Given the description of an element on the screen output the (x, y) to click on. 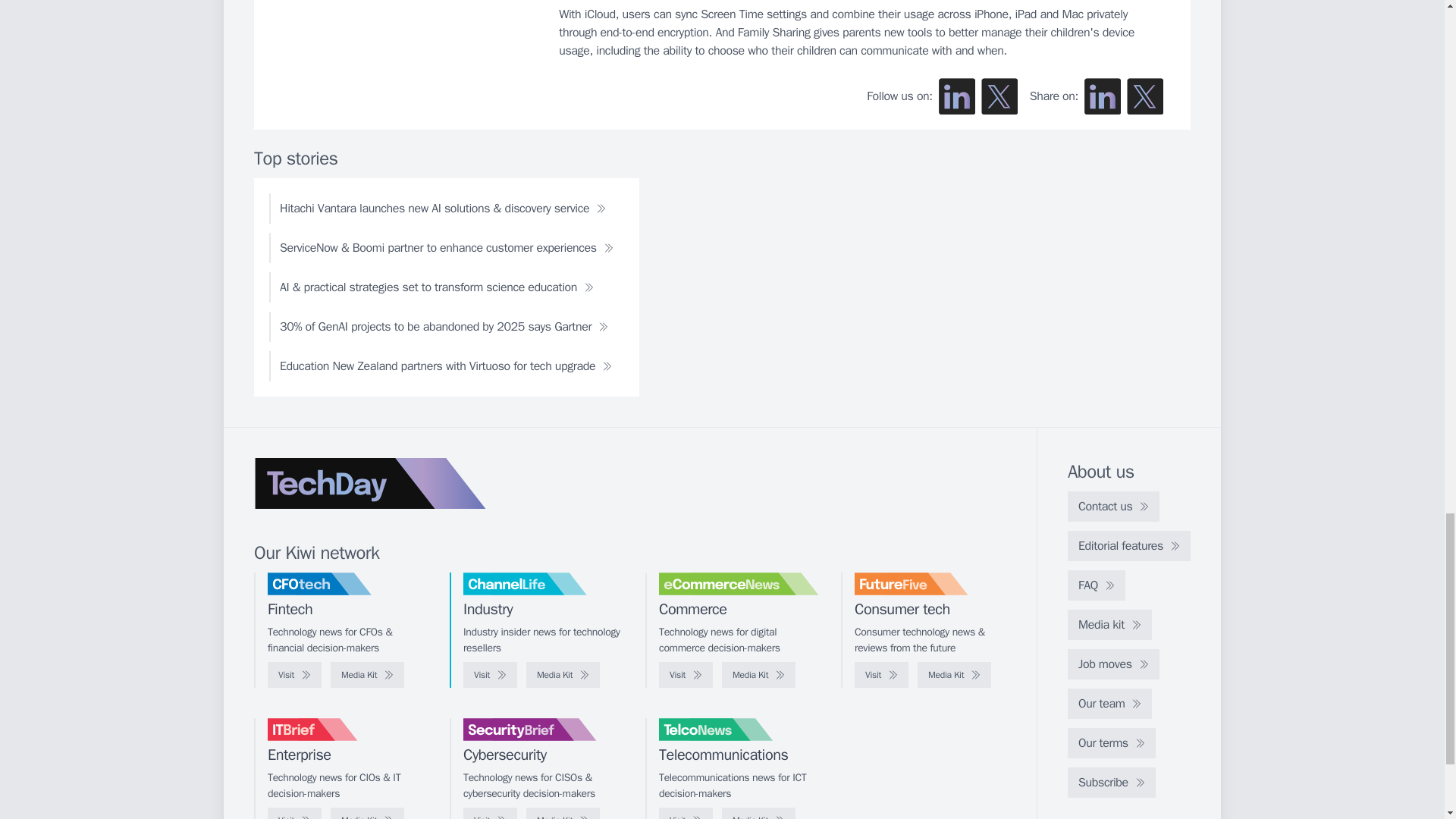
Visit (881, 674)
Media Kit (954, 674)
Visit (686, 674)
Media Kit (562, 813)
Media Kit (562, 674)
Visit (294, 813)
Media Kit (367, 813)
Media Kit (758, 674)
Media Kit (367, 674)
Visit (294, 674)
Visit (489, 813)
Visit (489, 674)
